Given the description of an element on the screen output the (x, y) to click on. 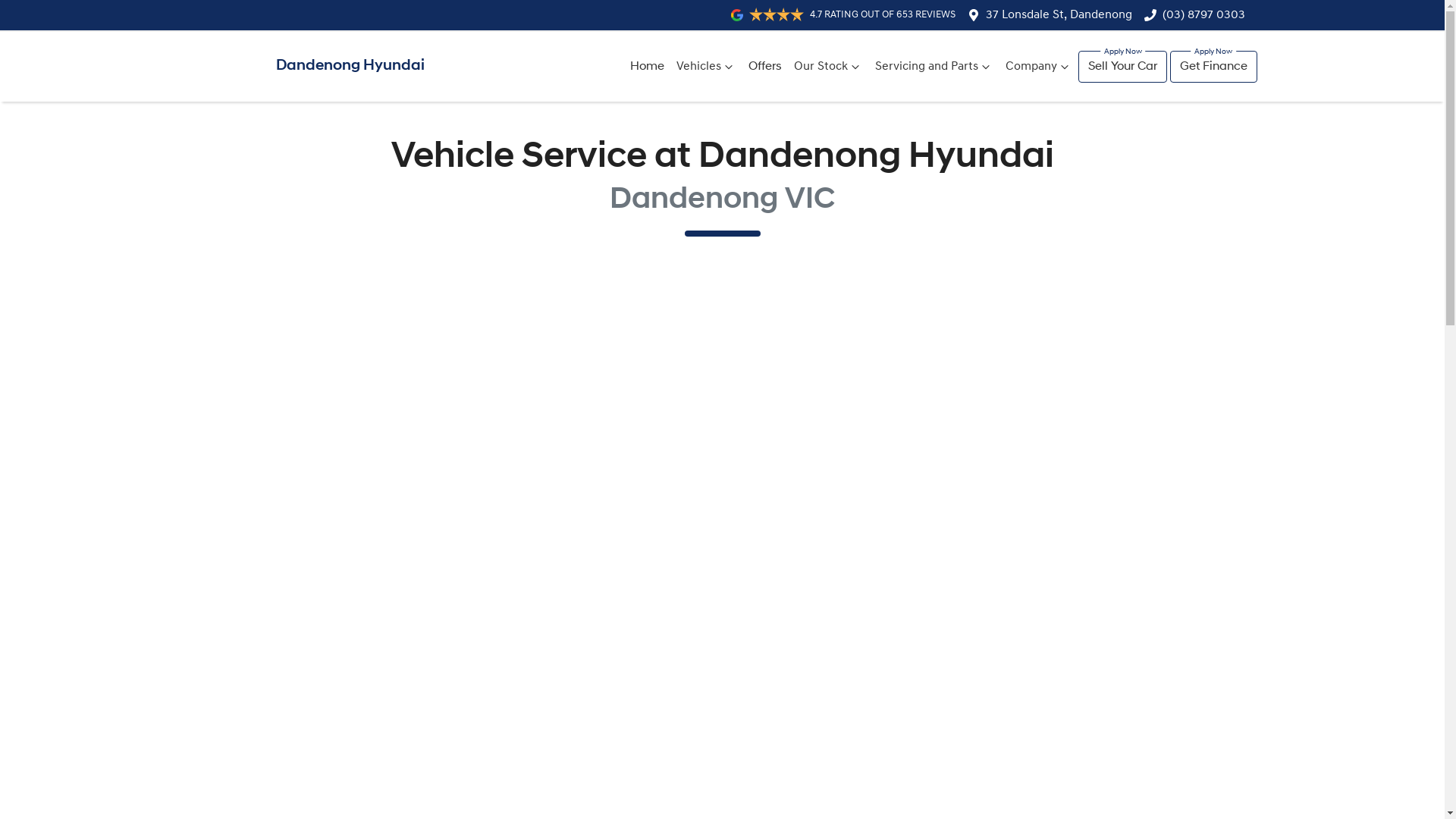
Our Stock Element type: text (828, 66)
Servicing and Parts Element type: text (934, 66)
Get Finance Element type: text (1212, 66)
Sell Your Car Element type: text (1122, 66)
Offers Element type: text (764, 66)
Home Element type: text (647, 66)
Dandenong Hyundai Element type: text (306, 66)
(03) 8797 0303 Element type: text (1202, 15)
37 Lonsdale St, Dandenong Element type: text (1058, 15)
Vehicles Element type: text (706, 66)
Company Element type: text (1038, 66)
